Given the description of an element on the screen output the (x, y) to click on. 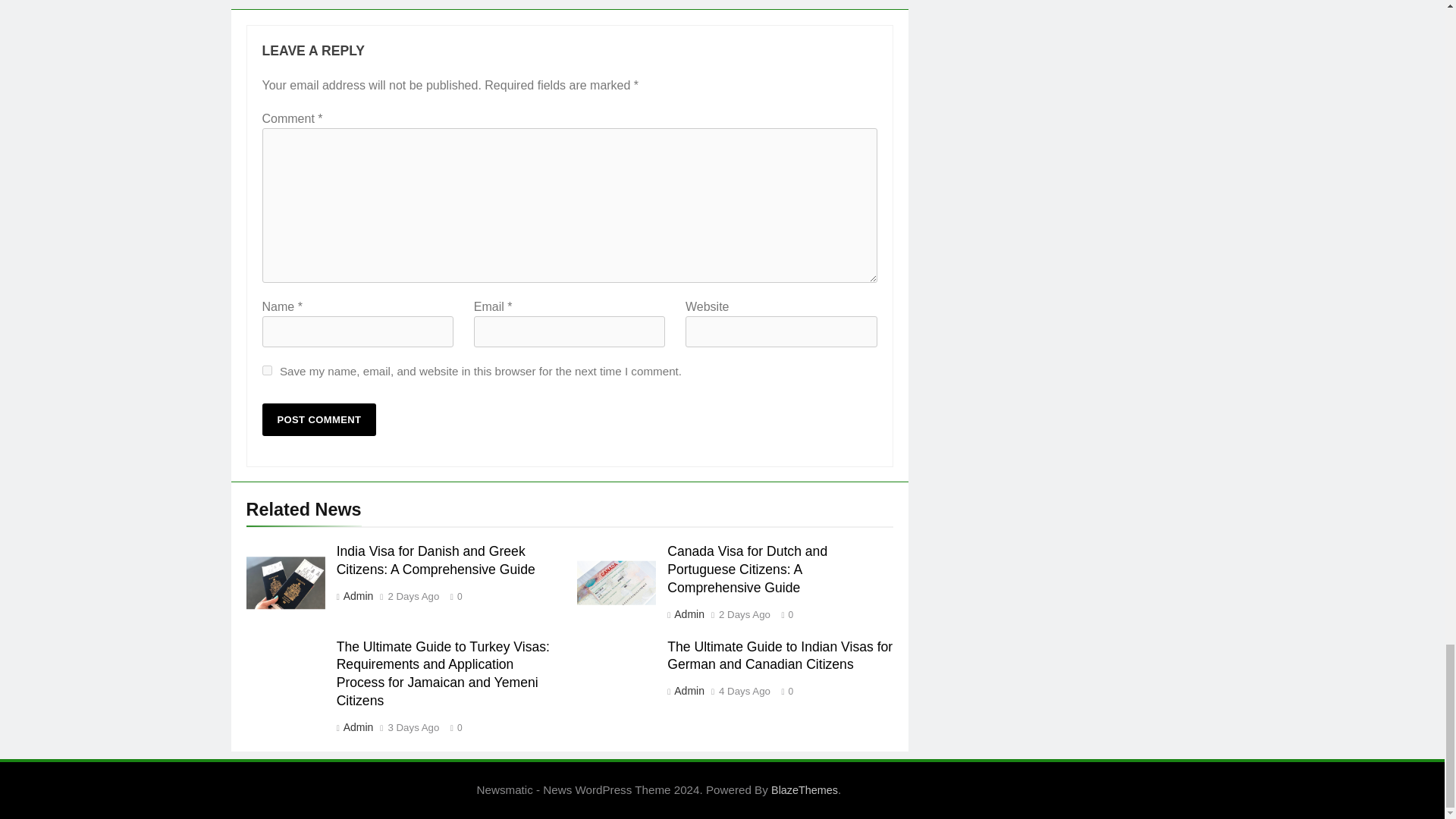
yes (267, 370)
Post Comment (319, 419)
